Given the description of an element on the screen output the (x, y) to click on. 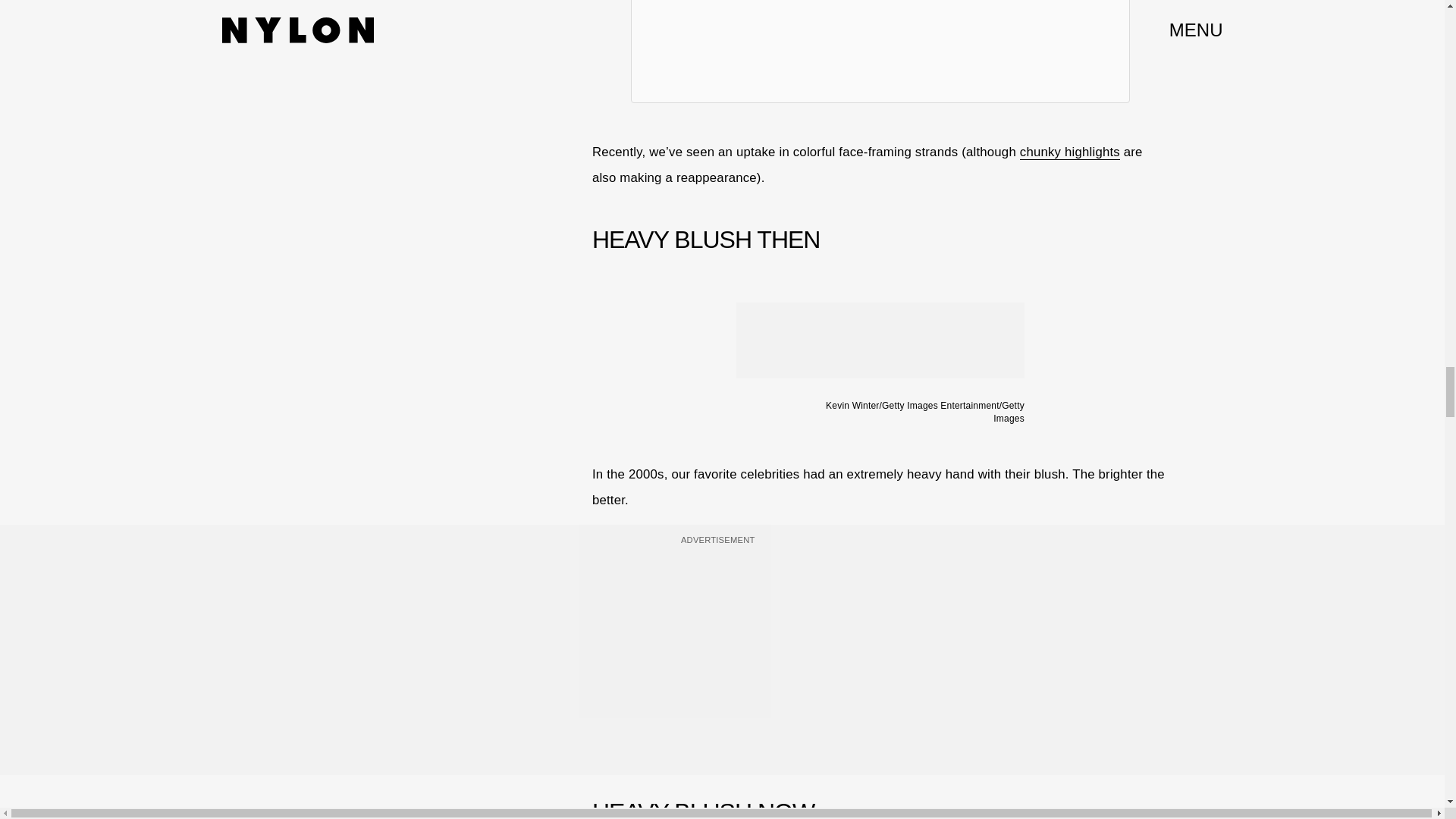
chunky highlights (1069, 151)
